Given the description of an element on the screen output the (x, y) to click on. 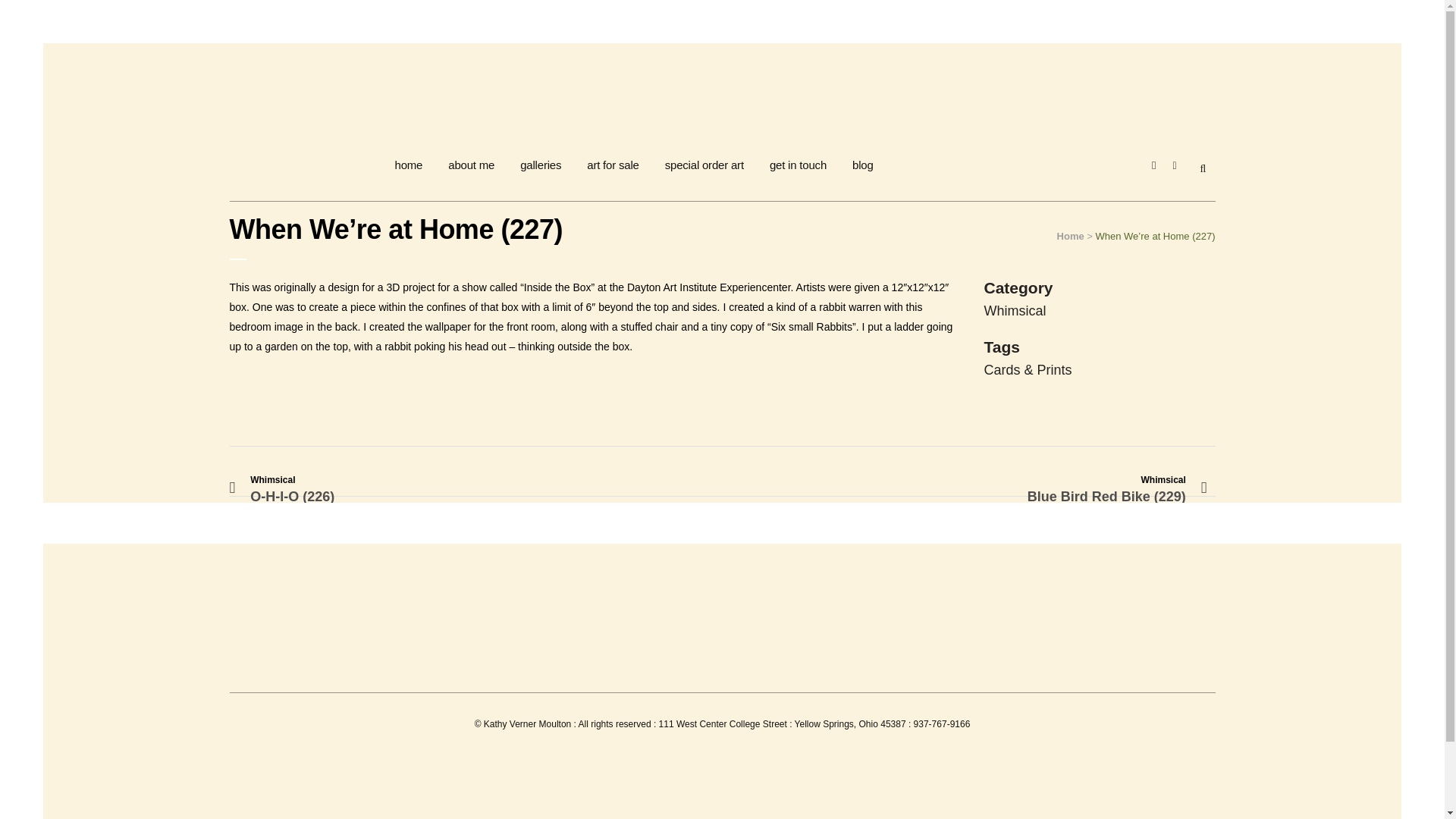
about me (470, 164)
galleries (539, 164)
special order art (704, 164)
get in touch (798, 164)
art for sale (611, 164)
